Given the description of an element on the screen output the (x, y) to click on. 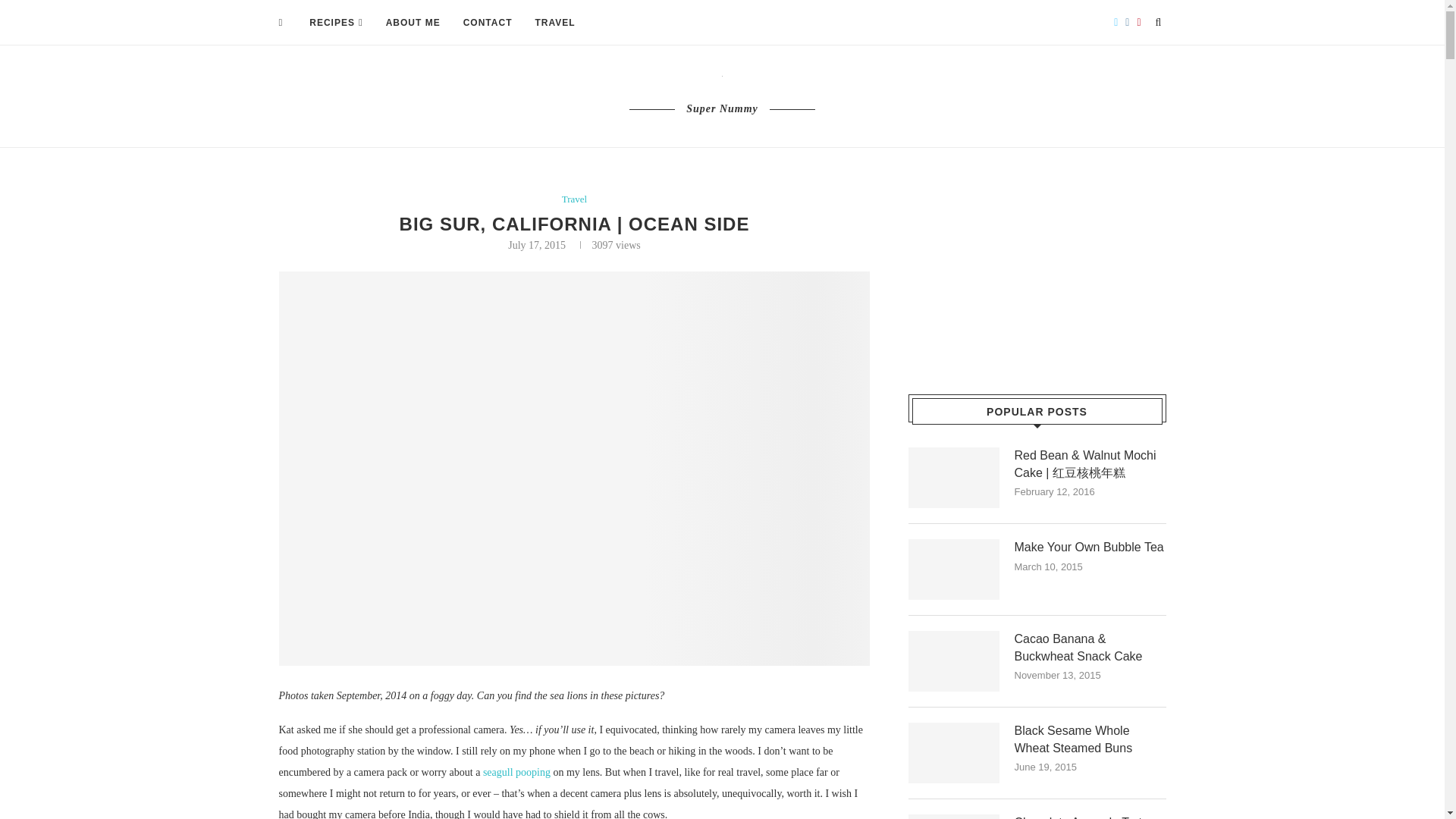
RECIPES (335, 22)
